Given the description of an element on the screen output the (x, y) to click on. 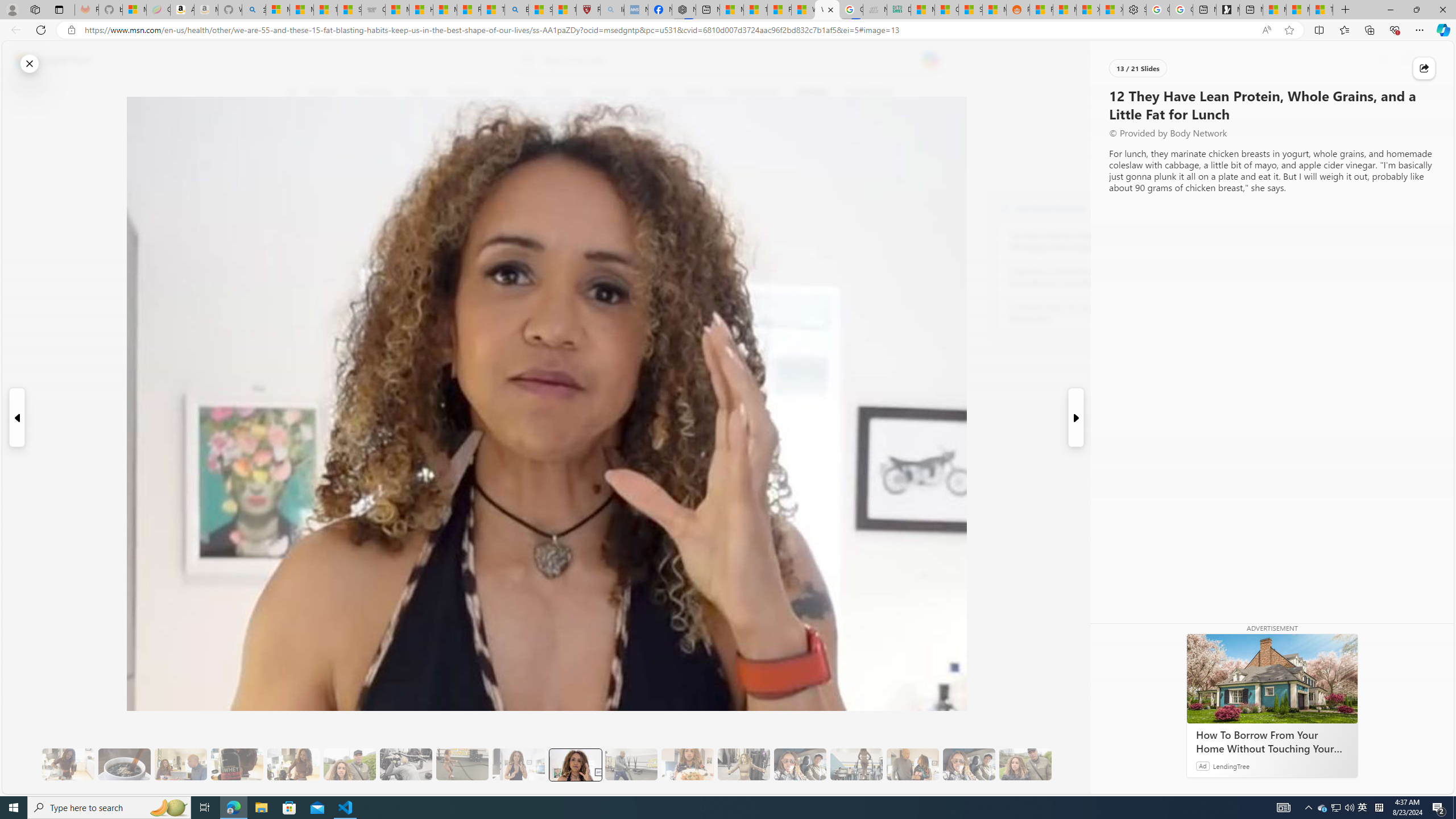
Nordace - Nordace Siena Is Not An Ordinary Backpack (683, 9)
13 Her Husband Does Group Cardio Classs (631, 764)
Previous Slide (16, 417)
Microsoft rewards (1382, 60)
Web search (526, 60)
Ad (1202, 765)
8 Be Mindful of Coffee (124, 764)
Food & Drink (865, 92)
Crime (657, 92)
